Given the description of an element on the screen output the (x, y) to click on. 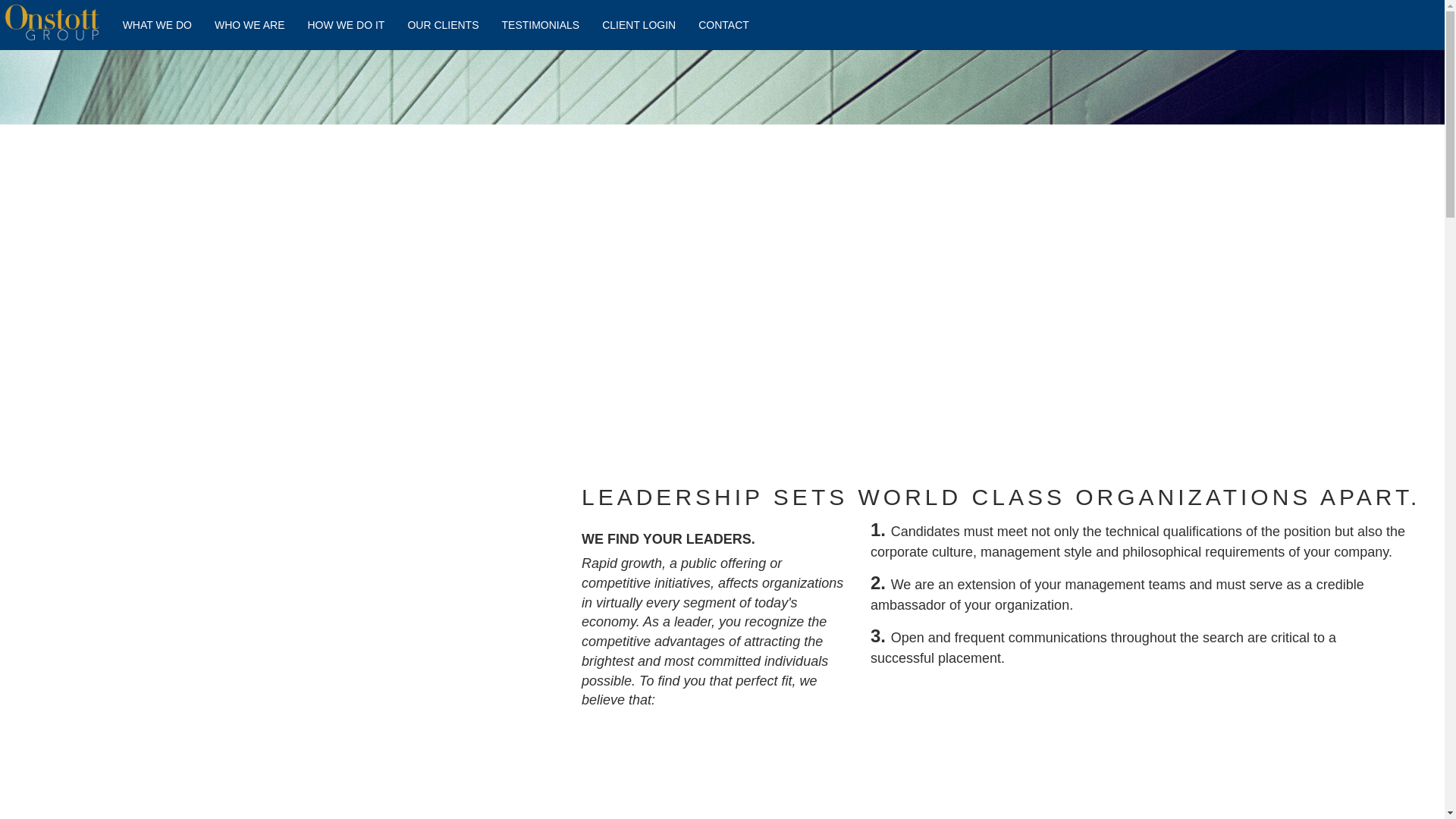
CLIENT LOGIN (639, 24)
WHAT WE DO (157, 24)
WHO WE ARE (250, 24)
TESTIMONIALS (540, 24)
OUR CLIENTS (442, 24)
CONTACT (723, 24)
HOW WE DO IT (345, 24)
